Given the description of an element on the screen output the (x, y) to click on. 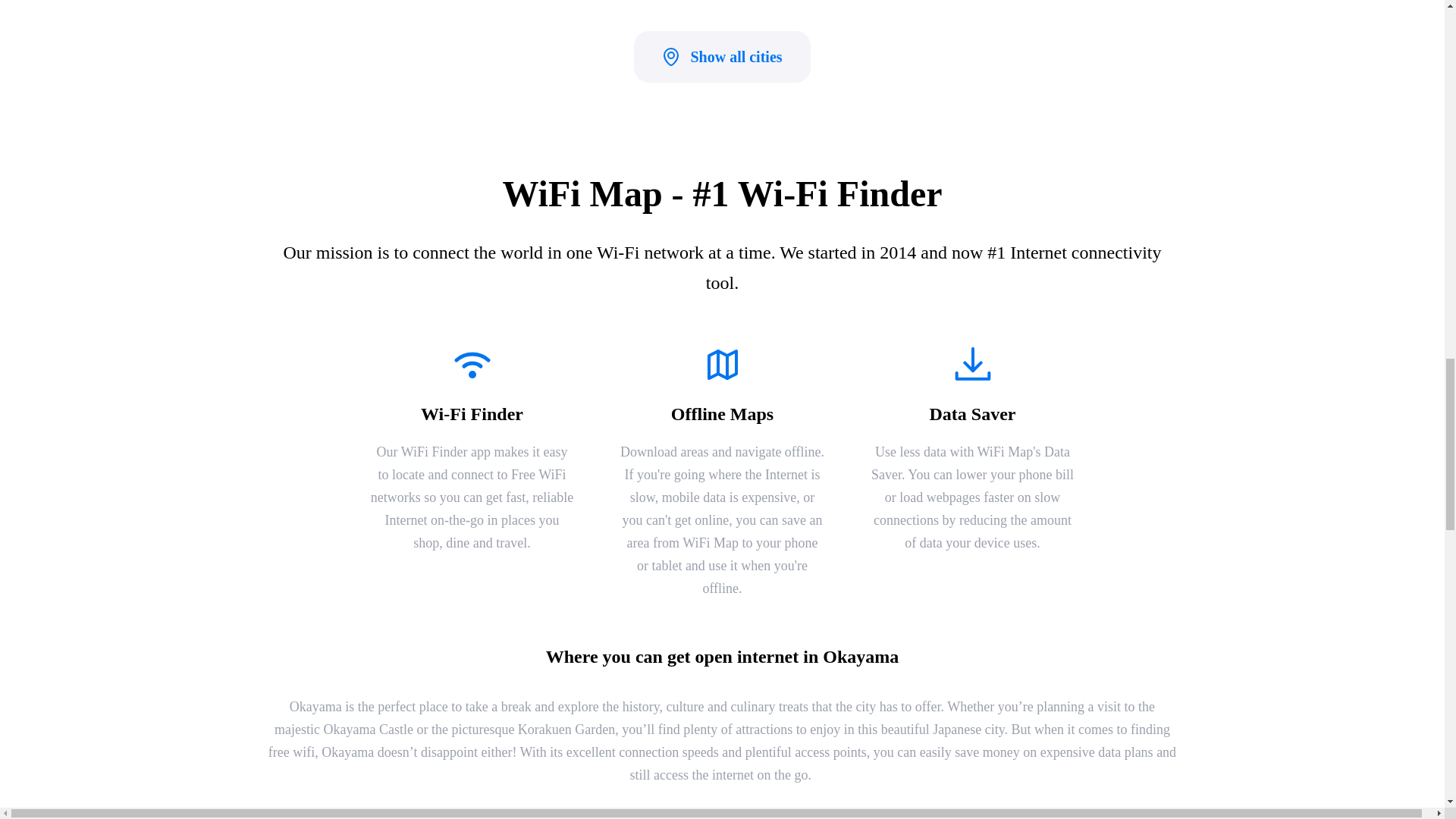
Show all cities (721, 56)
